Given the description of an element on the screen output the (x, y) to click on. 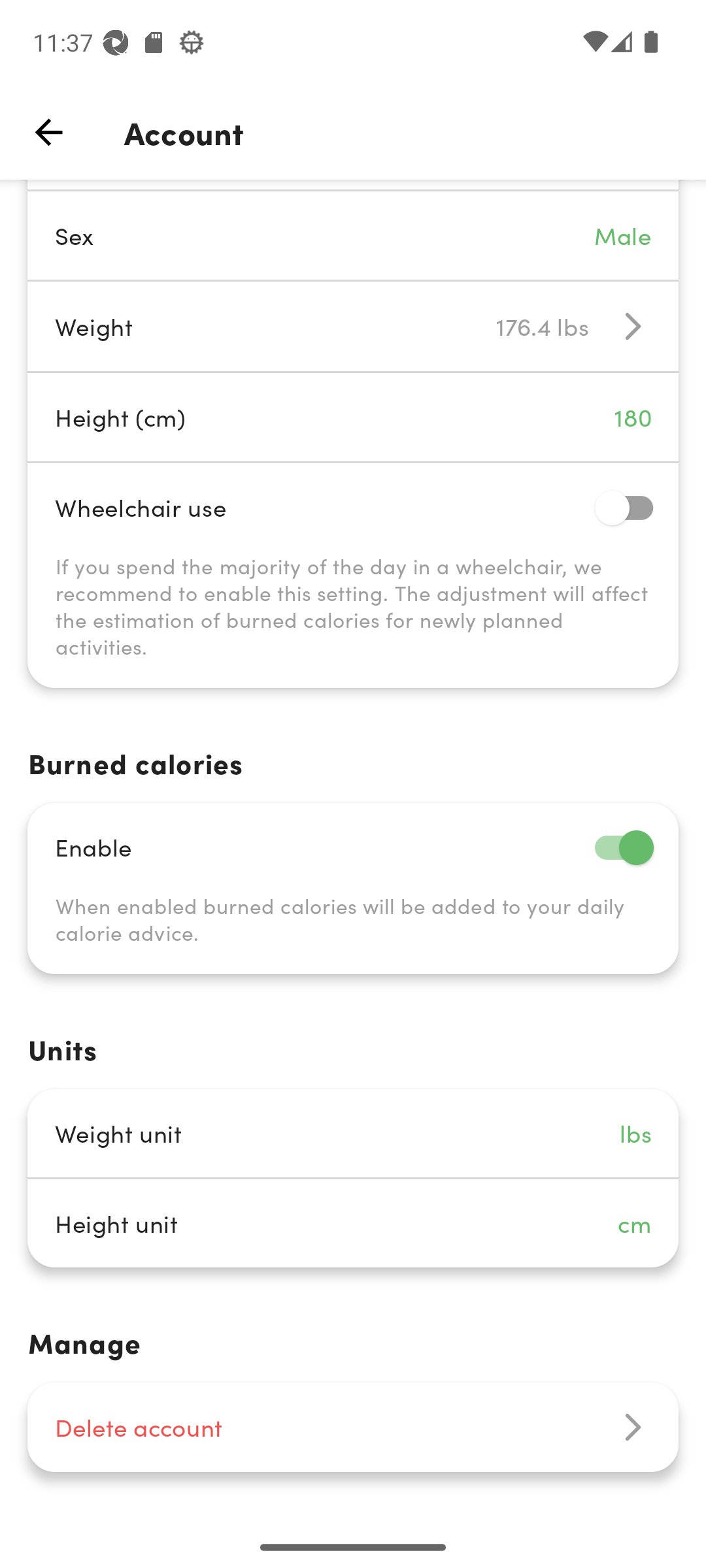
top_left_action (48, 132)
Sex Male (352, 235)
Weight 176.4 lbs (352, 326)
Height (cm) 180 (352, 416)
Wheelchair use (352, 506)
Enable (352, 846)
Weight unit lbs (352, 1133)
Height unit cm (352, 1222)
Delete account (352, 1427)
